Given the description of an element on the screen output the (x, y) to click on. 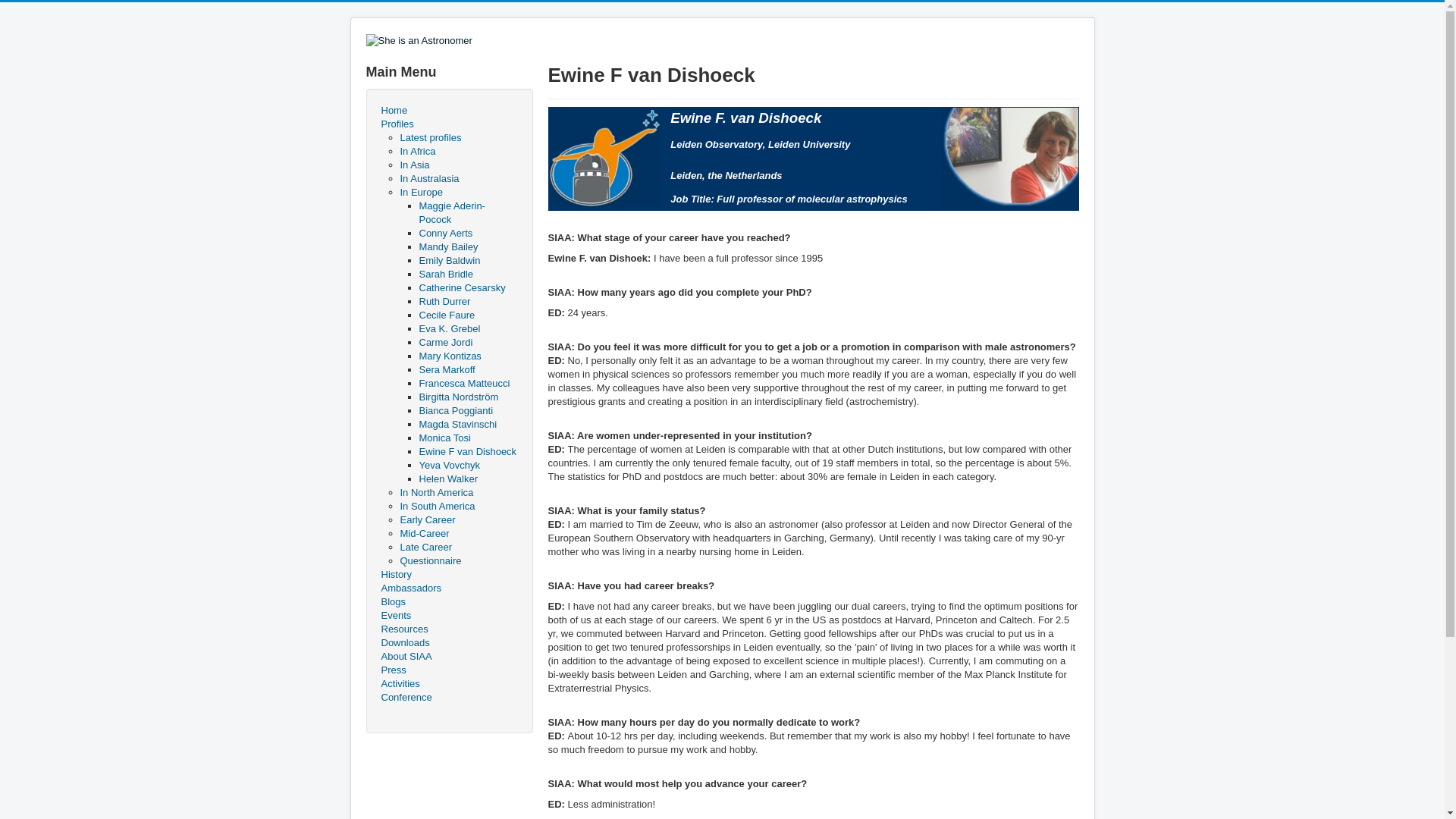
Mandy Bailey (448, 246)
Profiles (448, 124)
Downloads (448, 643)
Conny Aerts (445, 233)
Ewine F van Dishoeck (467, 451)
Carme Jordi (445, 342)
In North America (437, 491)
In Australasia (430, 178)
Latest profiles (430, 137)
Mid-Career (424, 532)
